Given the description of an element on the screen output the (x, y) to click on. 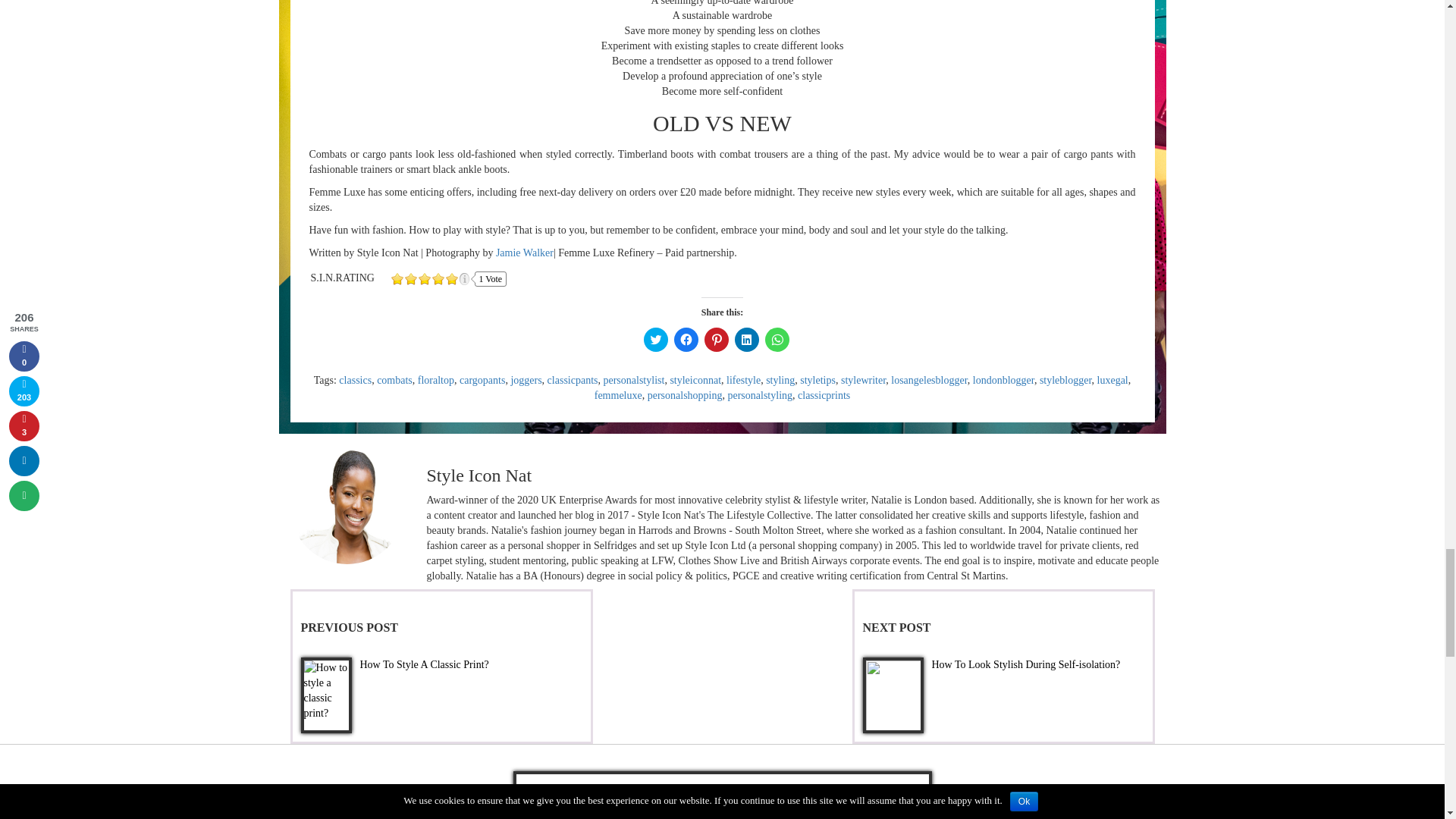
Click to share on Twitter (654, 339)
